Given the description of an element on the screen output the (x, y) to click on. 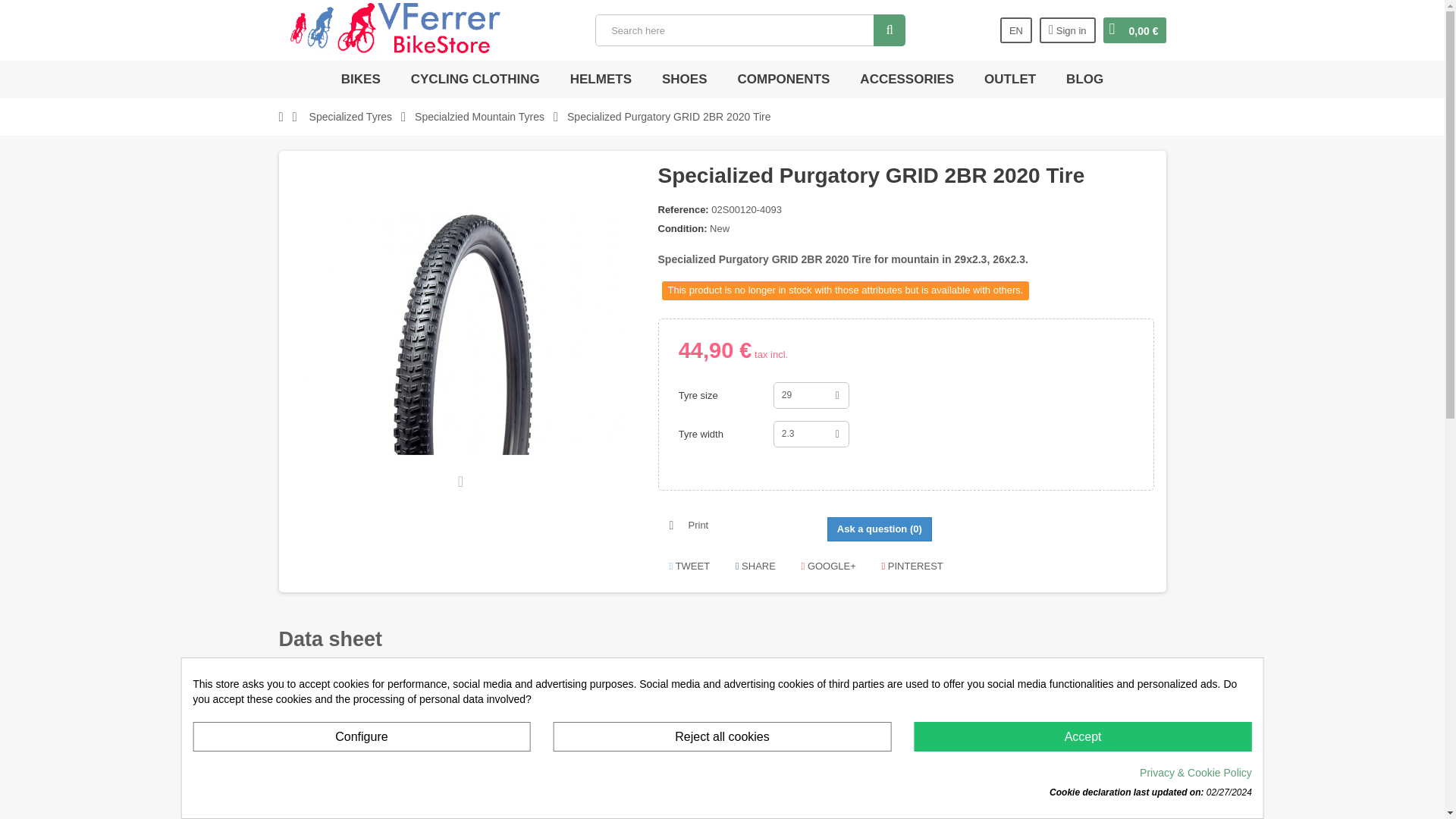
Specialzied Mountain Tyres (479, 116)
SHOES (684, 79)
Specialized Purgatory GRID 2BR Tire (461, 334)
HELMETS (601, 79)
Specialized Tyres (349, 116)
BIKES (360, 79)
Log in to your customer account (1067, 30)
Sign in (1067, 30)
View my shopping cart (1134, 30)
BLOG (1084, 79)
OUTLET (1009, 79)
